Given the description of an element on the screen output the (x, y) to click on. 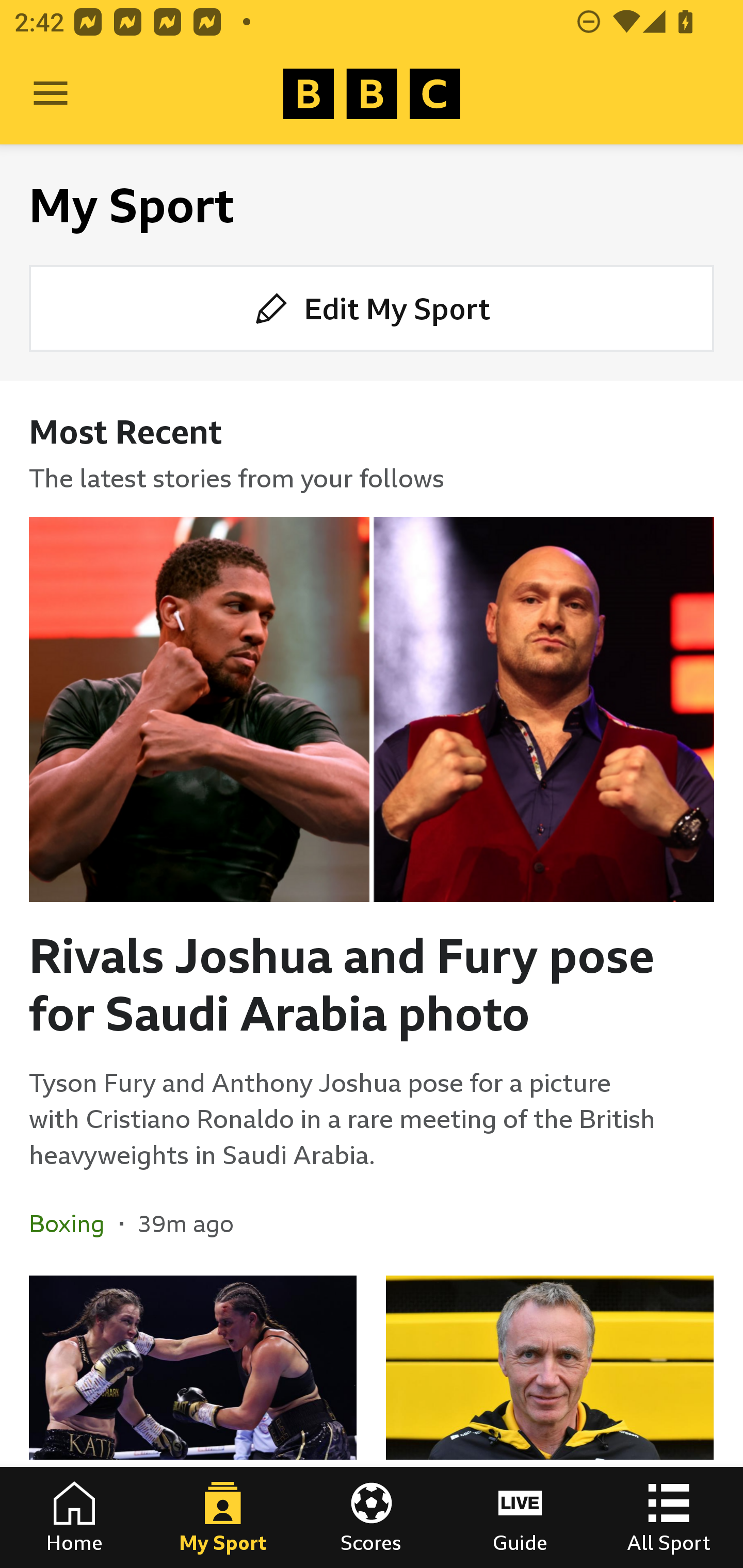
Open Menu (50, 93)
Edit My Sport (371, 307)
Taylor-Cameron trilogy will happen in 2024 - Hearn (192, 1421)
Engineer Bell leaves struggling Alpine (549, 1421)
Home (74, 1517)
Scores (371, 1517)
Guide (519, 1517)
All Sport (668, 1517)
